Given the description of an element on the screen output the (x, y) to click on. 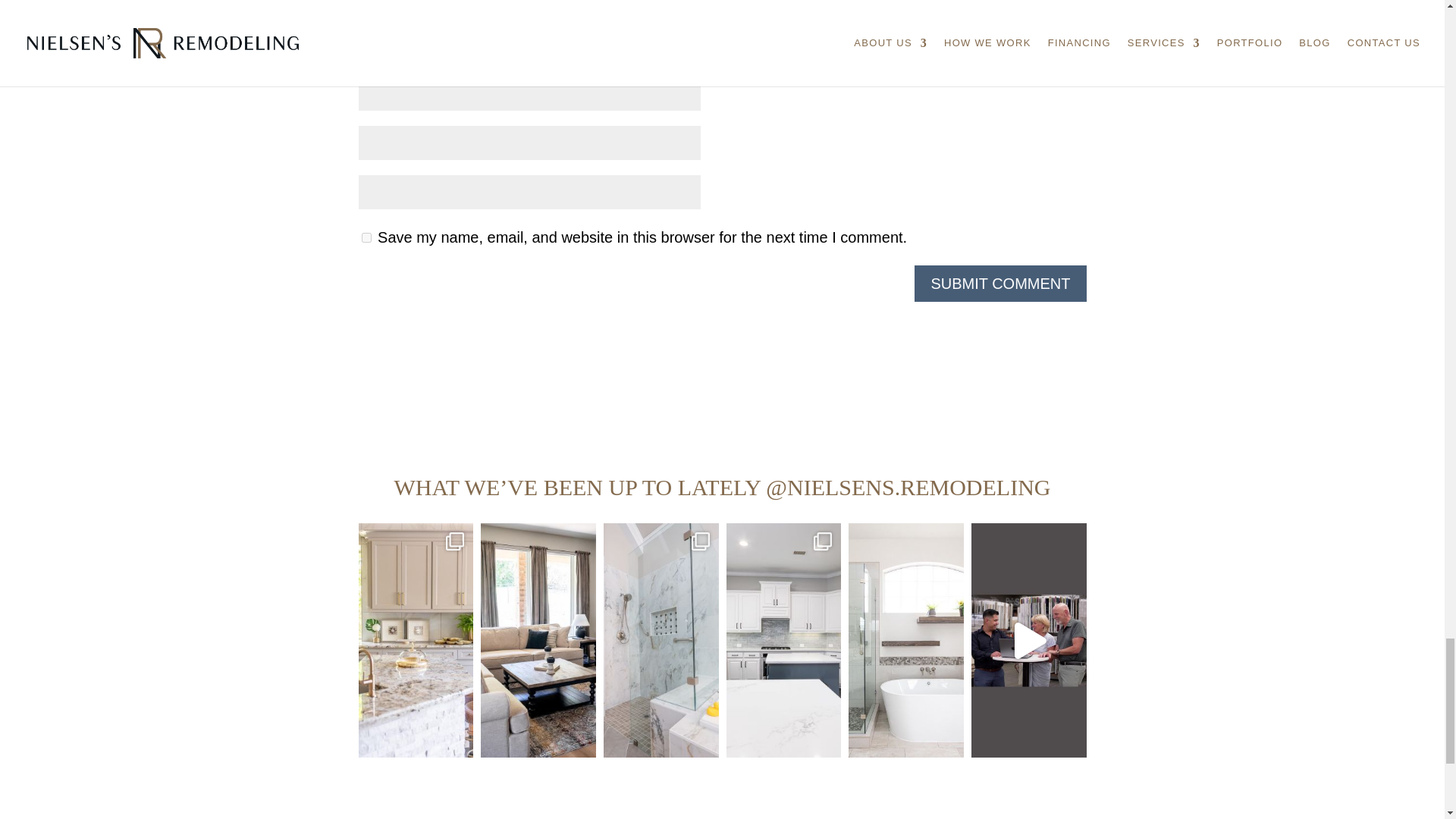
Submit Comment (1000, 283)
yes (366, 237)
